Given the description of an element on the screen output the (x, y) to click on. 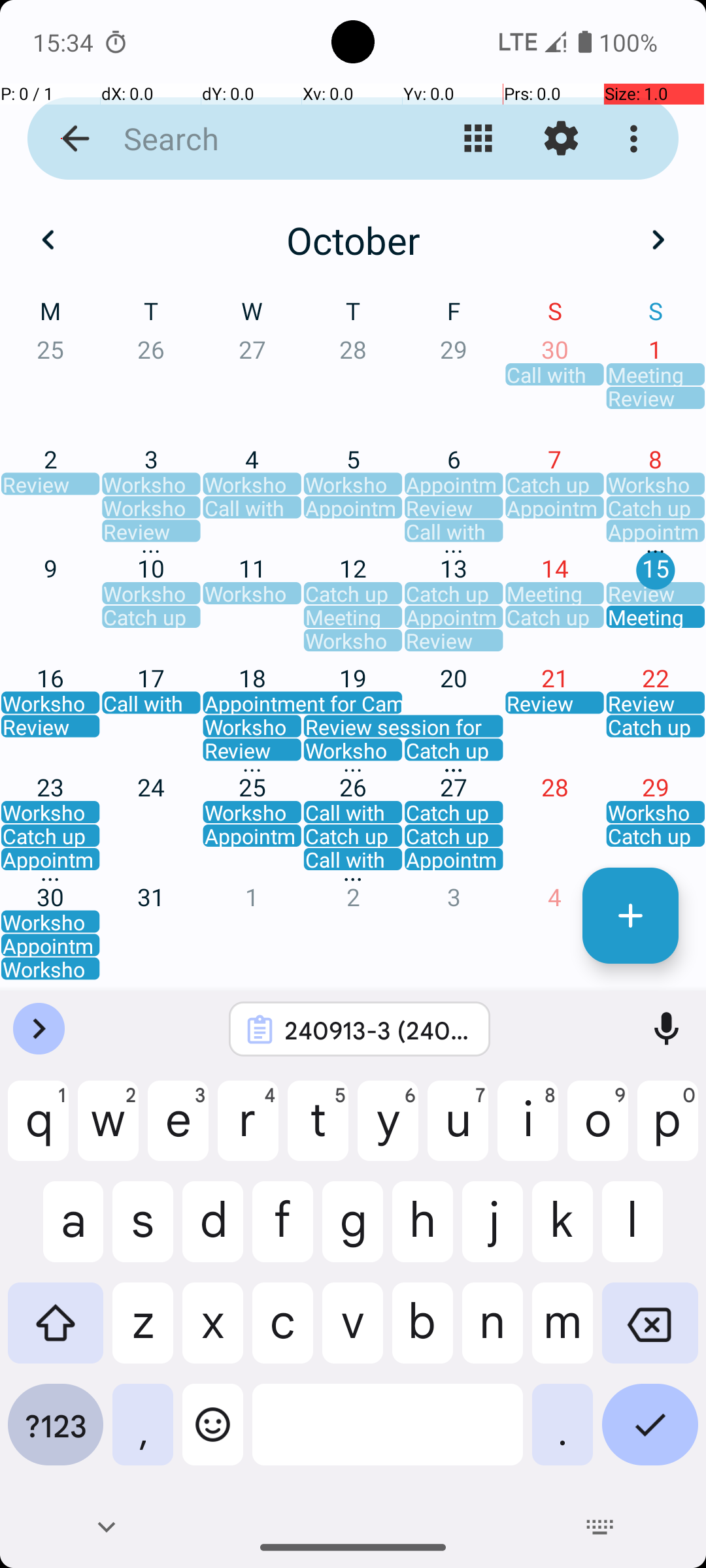
240913-3 (240906-2的from base对照组) Element type: android.widget.TextView (376, 1029)
